Given the description of an element on the screen output the (x, y) to click on. 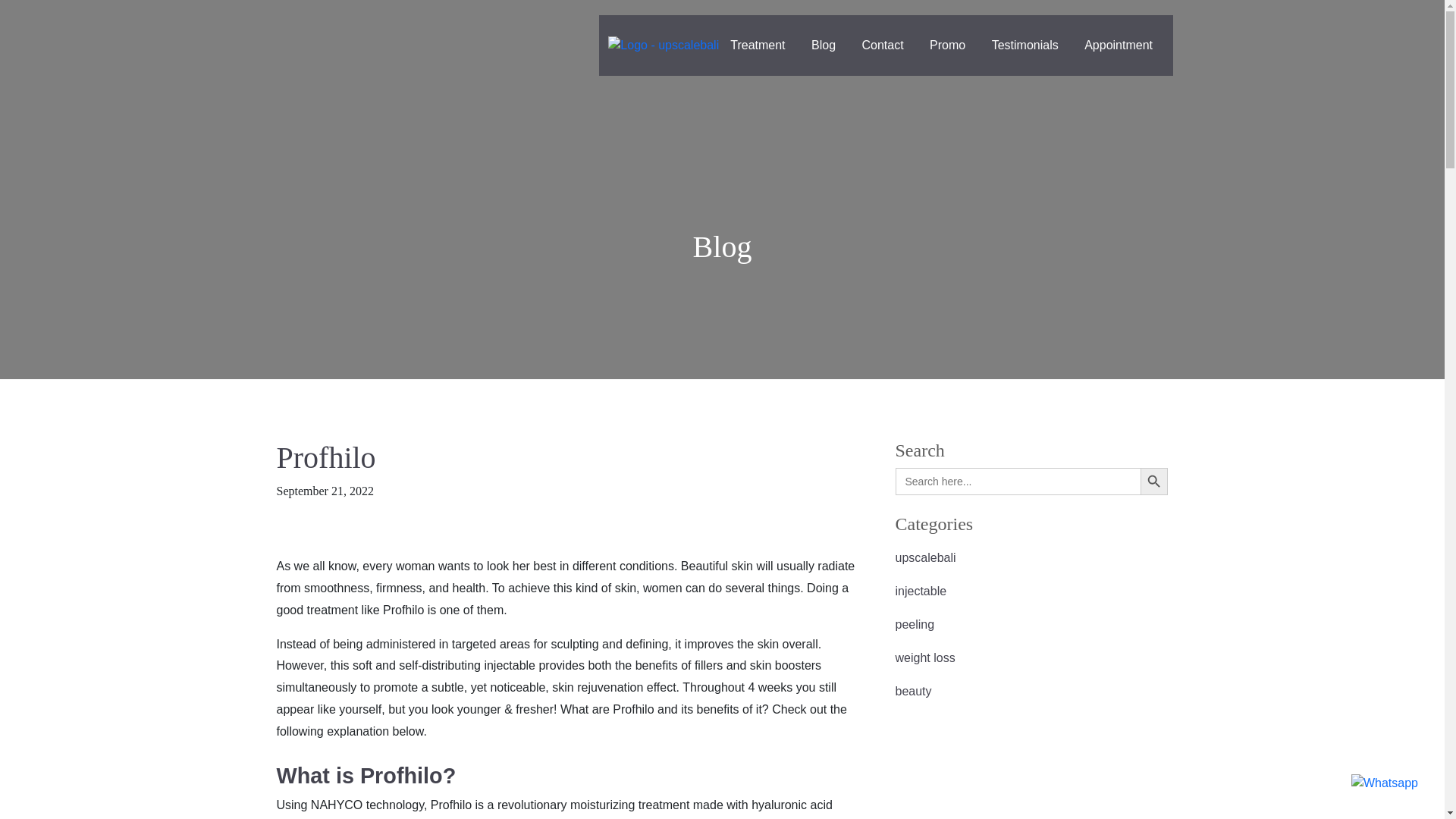
peeling (1031, 624)
weight loss (1031, 657)
blog (823, 44)
injectable (1031, 591)
Contact (882, 44)
Treatment (757, 44)
upscalebali (1031, 557)
Blog (823, 44)
Appointment (1118, 44)
Promo (947, 44)
Testimonials (1024, 44)
Treatment (757, 44)
Contact (882, 44)
Search Button (1153, 481)
Testimonials (1024, 44)
